Given the description of an element on the screen output the (x, y) to click on. 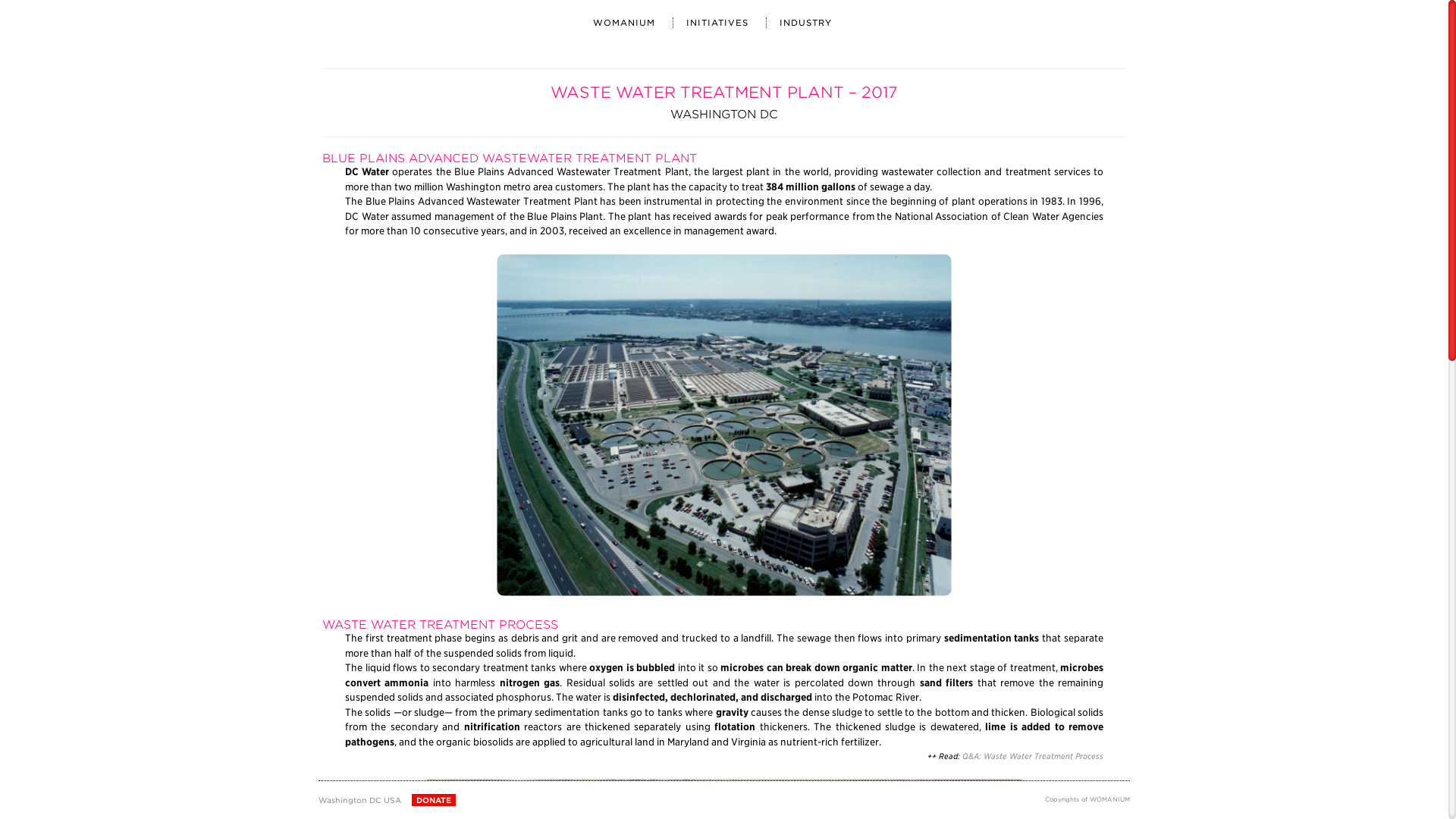
Washington DC USA (362, 799)
INITIATIVES (716, 21)
INDUSTRY (805, 21)
DONATE (433, 799)
WOMANIUM (623, 21)
Copyrights of WOMANIUM (1087, 799)
